Given the description of an element on the screen output the (x, y) to click on. 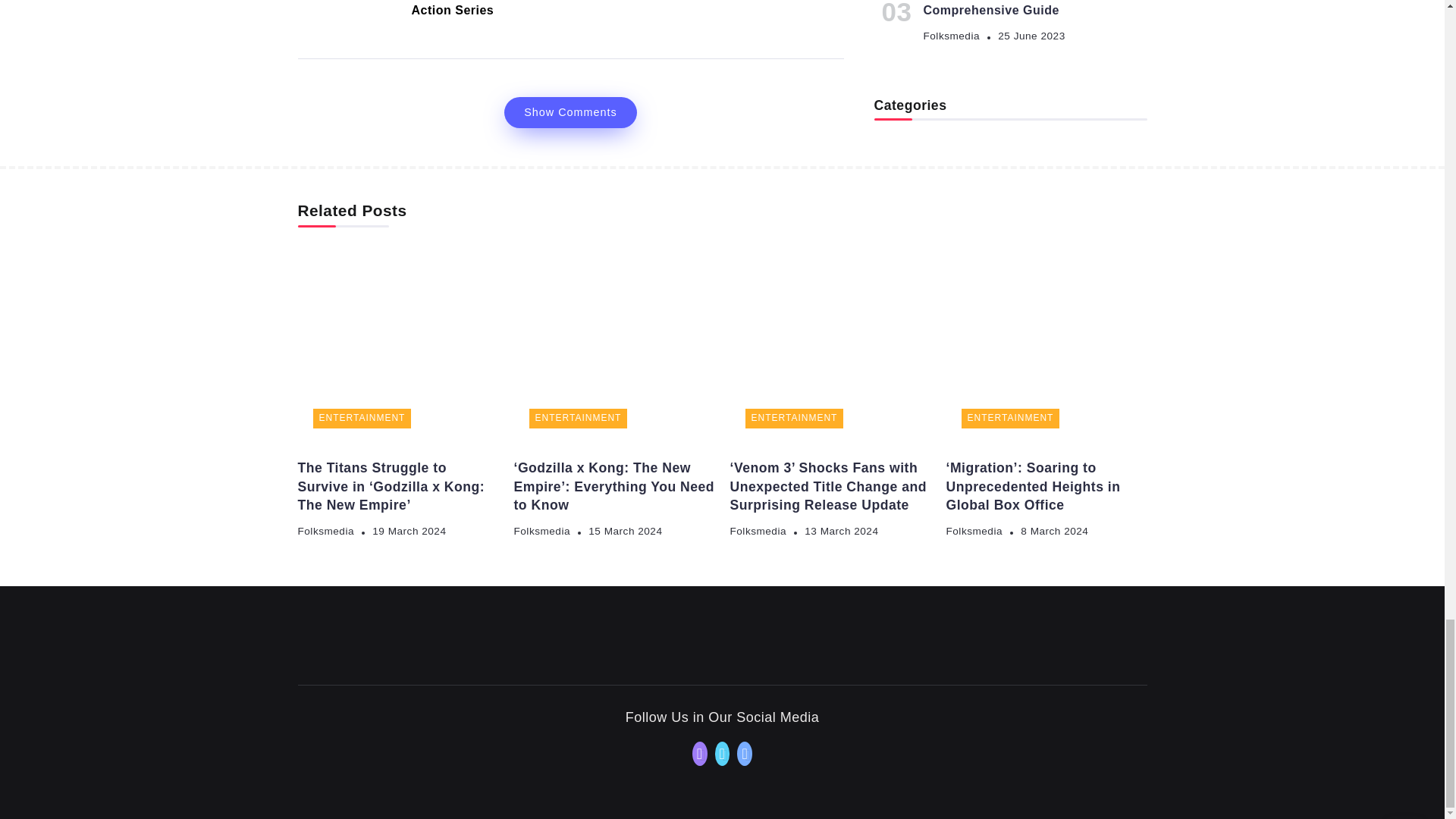
Show Comments (570, 112)
